Given the description of an element on the screen output the (x, y) to click on. 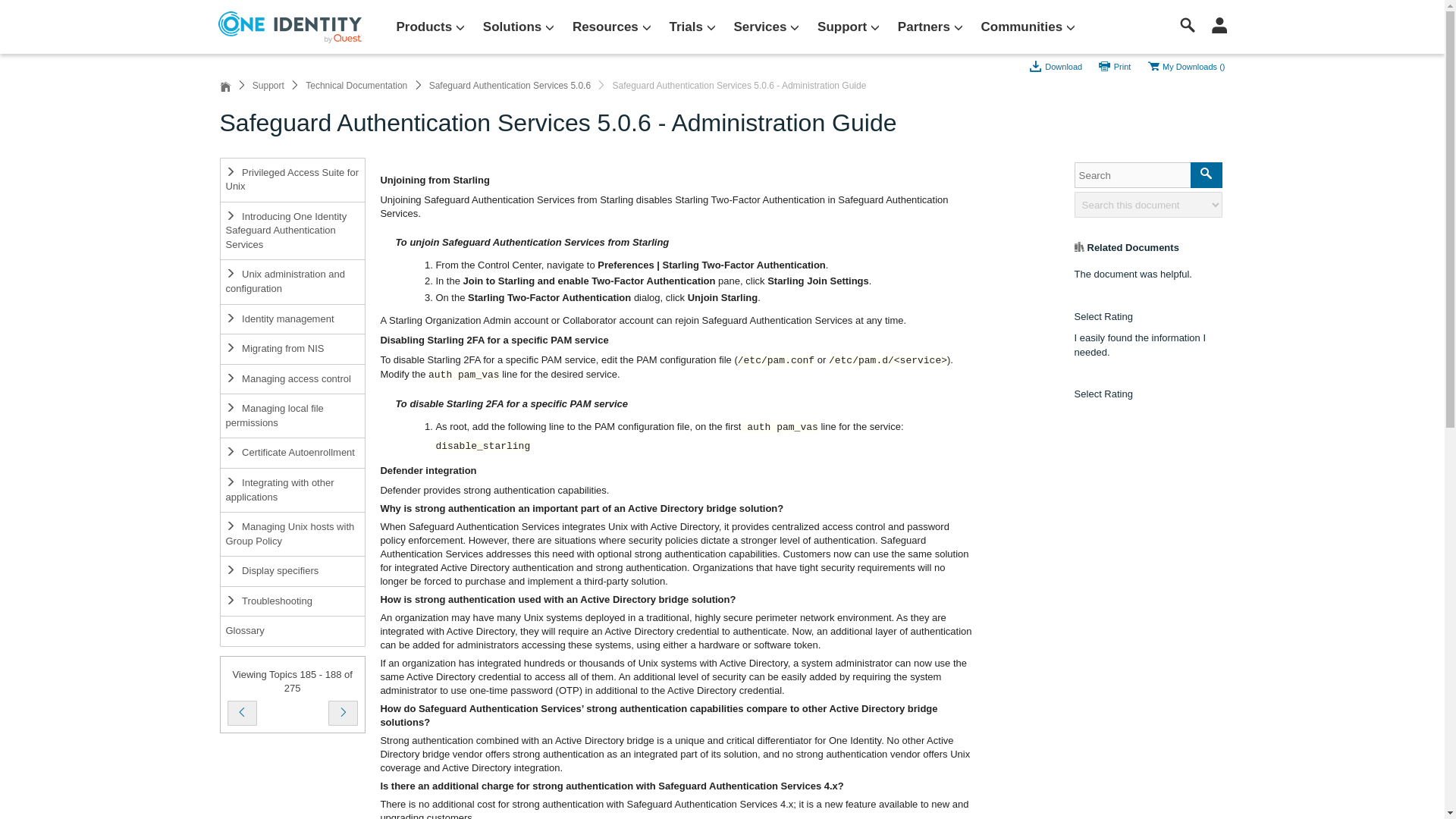
Resources (611, 27)
Products (429, 27)
Solutions (519, 27)
